Given the description of an element on the screen output the (x, y) to click on. 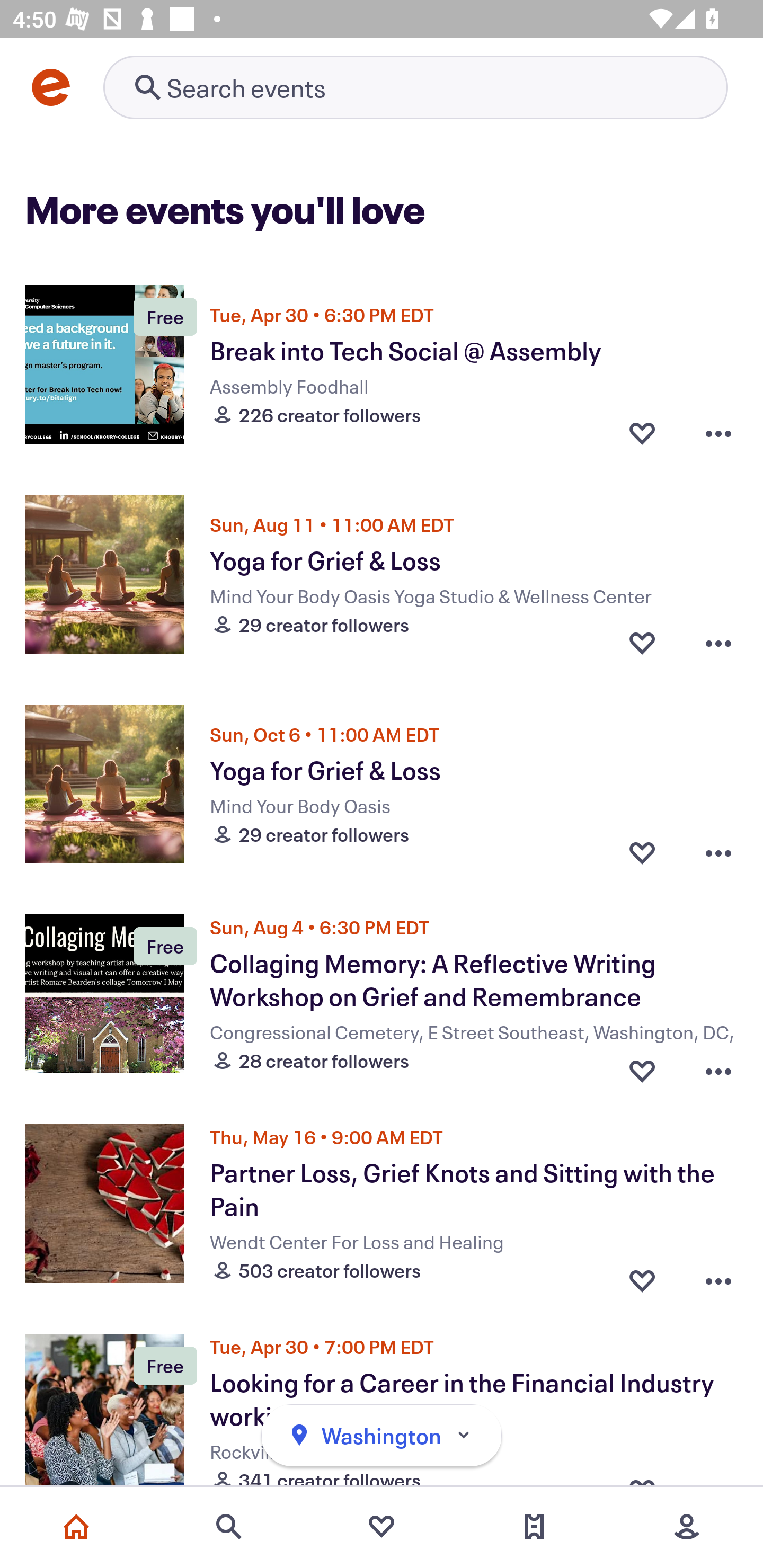
Retry's image Search events (415, 86)
Favorite button (642, 431)
Overflow menu button (718, 431)
Favorite button (642, 641)
Overflow menu button (718, 641)
Favorite button (642, 852)
Overflow menu button (718, 852)
Favorite button (642, 1066)
Overflow menu button (718, 1066)
Favorite button (642, 1275)
Overflow menu button (718, 1275)
Washington (381, 1435)
Home (76, 1526)
Search events (228, 1526)
Favorites (381, 1526)
Tickets (533, 1526)
More (686, 1526)
